Given the description of an element on the screen output the (x, y) to click on. 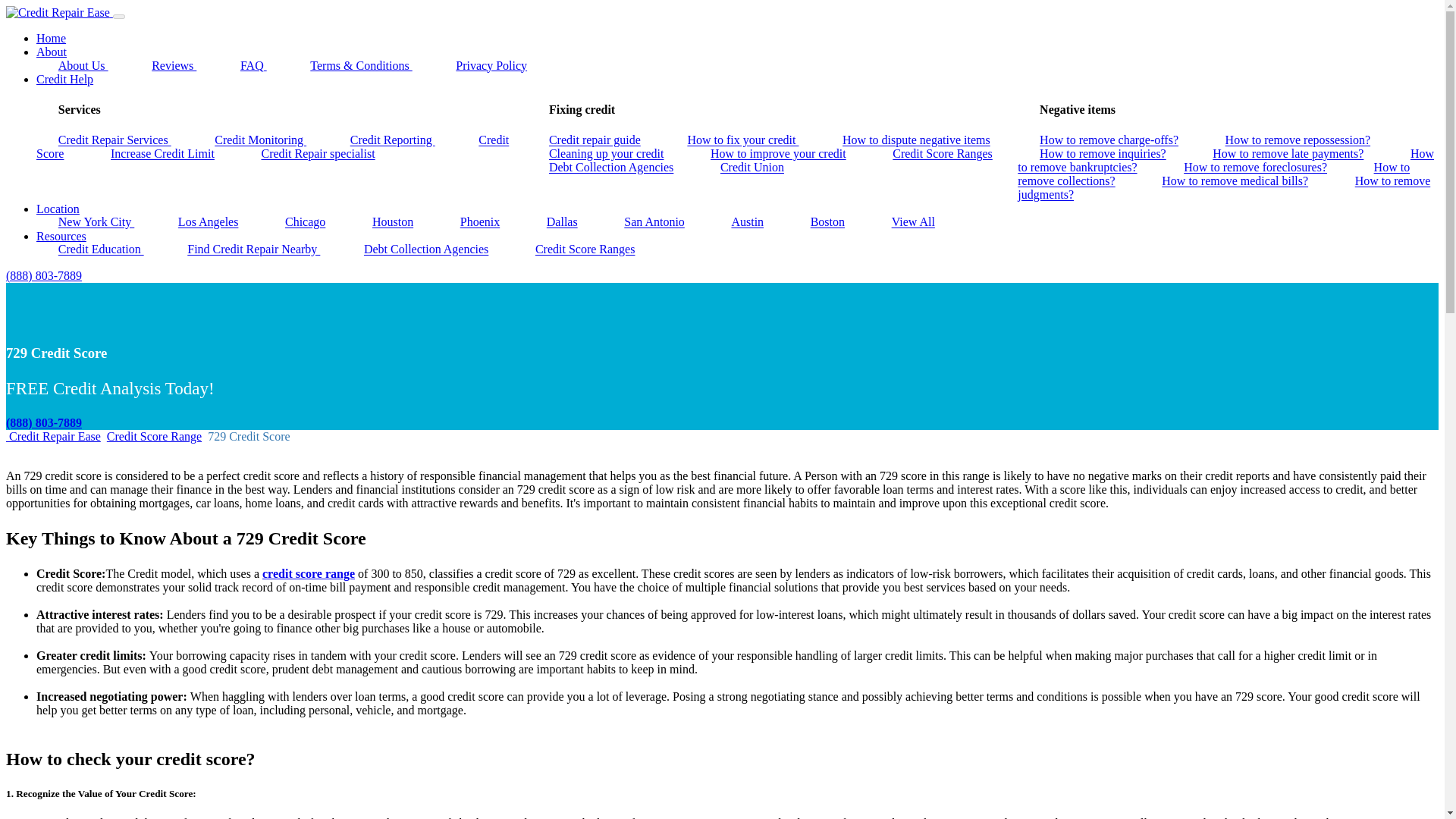
FAQ (253, 65)
How to remove medical bills? (1234, 180)
Credit Monitoring (259, 139)
Credit Reporting (393, 139)
Debt Collection Agencies (611, 167)
How to dispute negative items (916, 139)
Dallas (561, 221)
Credit Repair specialist (318, 153)
Credit Help (64, 78)
Credit Score Ranges (941, 153)
How to remove judgments? (1223, 187)
How to remove repossession? (1297, 139)
Phoenix (479, 221)
Increase Credit Limit (161, 153)
Location (58, 208)
